Given the description of an element on the screen output the (x, y) to click on. 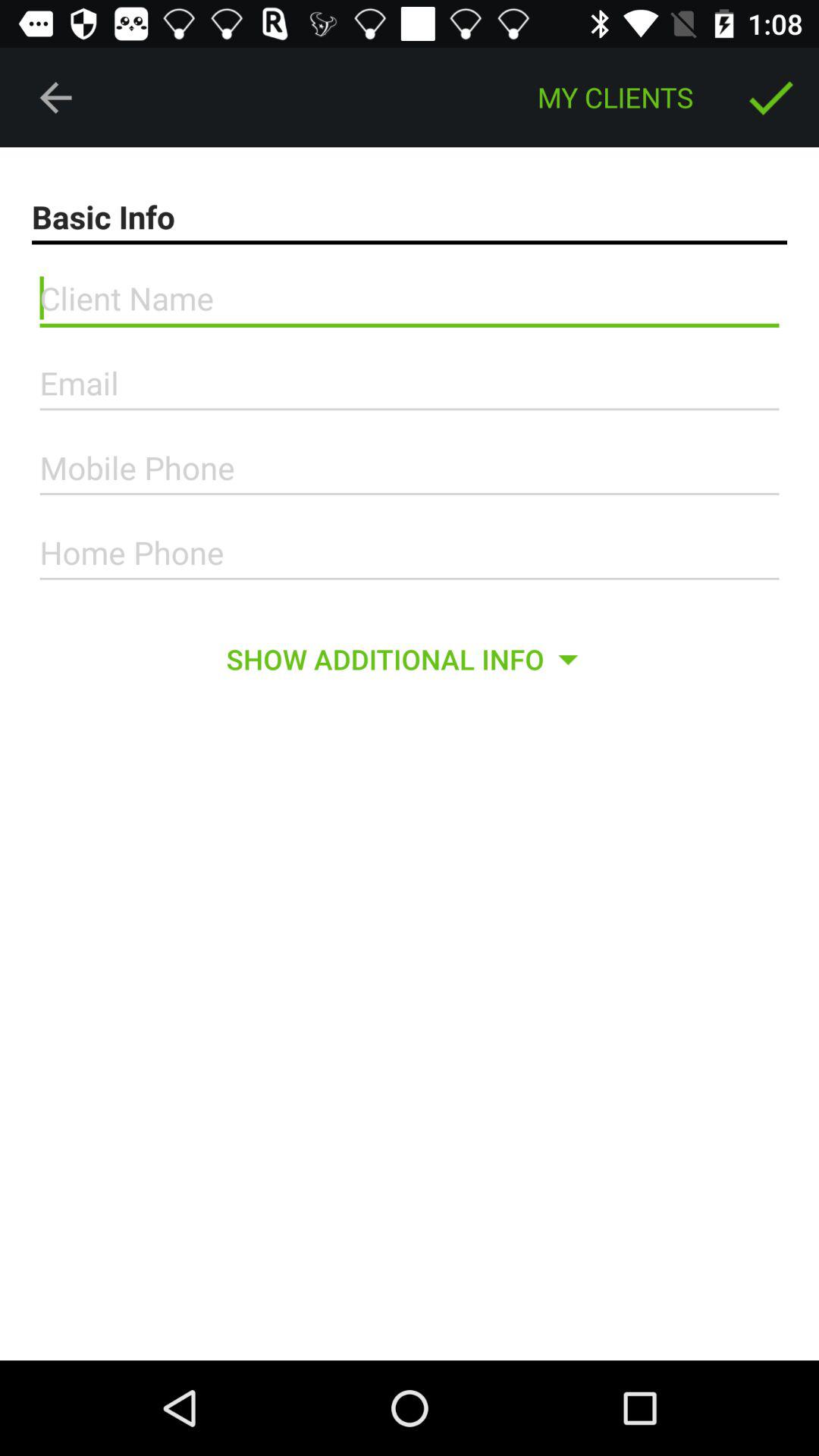
turn off icon next to my clients (55, 97)
